Given the description of an element on the screen output the (x, y) to click on. 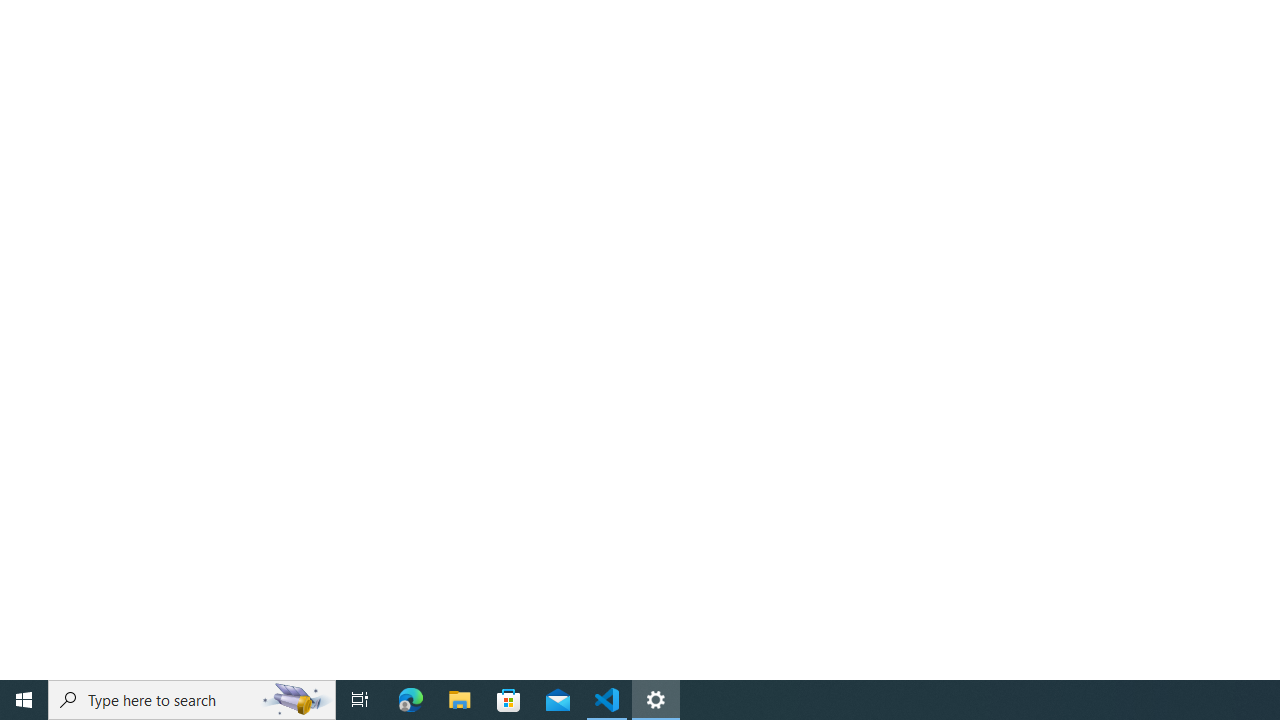
Settings - 1 running window (656, 699)
